Given the description of an element on the screen output the (x, y) to click on. 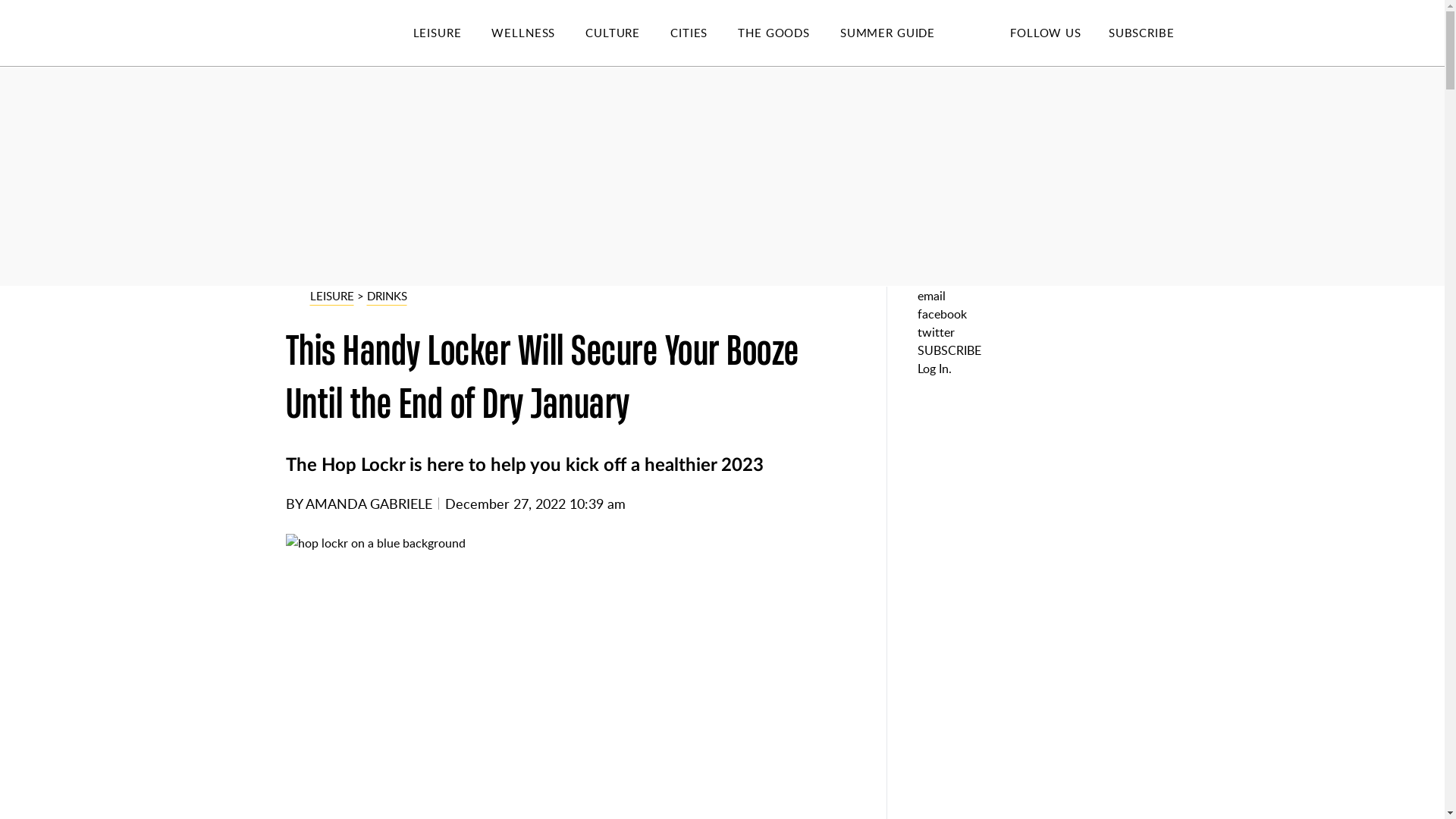
THE GOODS (789, 32)
WELLNESS (538, 32)
LEISURE (452, 32)
CITIES (703, 32)
SUMMER GUIDE (902, 32)
SUBSCRIBE (1141, 31)
CULTURE (627, 32)
FOLLOW US (1045, 32)
